Given the description of an element on the screen output the (x, y) to click on. 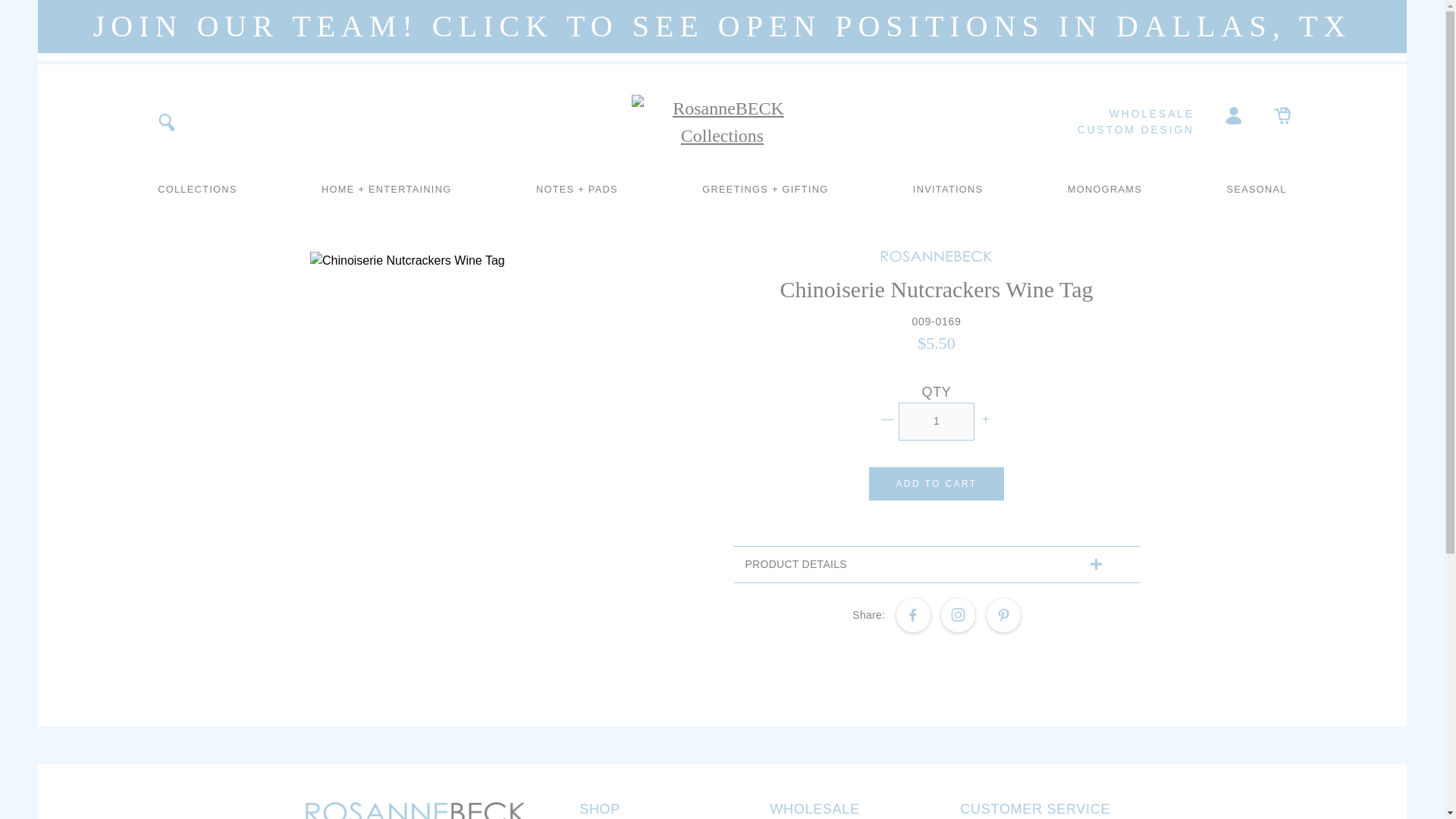
CUSTOM DESIGN (1108, 130)
Log in (1233, 114)
Cart (1281, 114)
Search (165, 121)
JOIN OUR TEAM! CLICK TO SEE OPEN POSITIONS IN DALLAS, TX (721, 30)
WHOLESALE (1108, 114)
1 (936, 421)
